Given the description of an element on the screen output the (x, y) to click on. 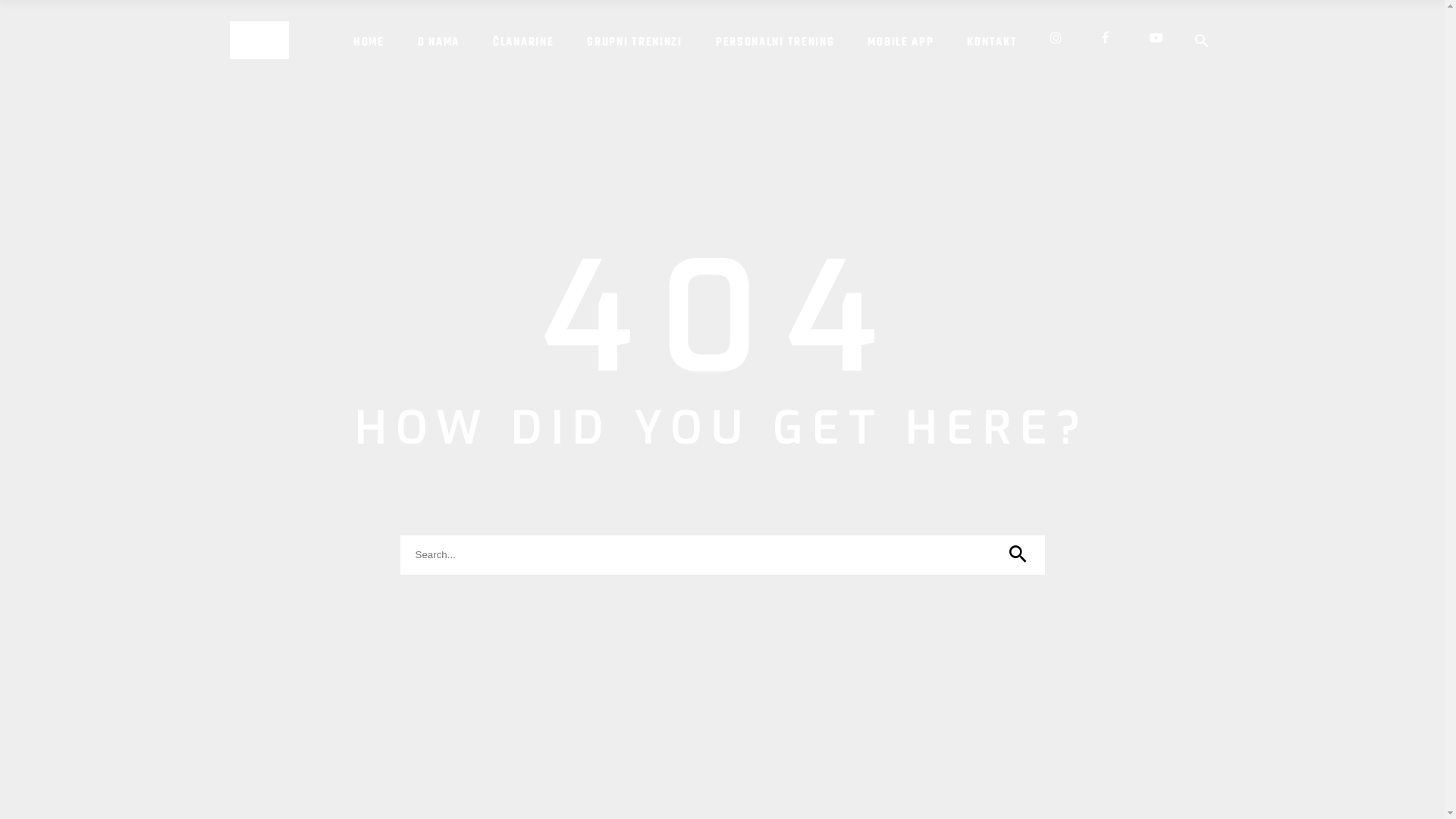
PERSONALNI TRENING Element type: text (775, 40)
Search for: Element type: hover (722, 554)
HOME Element type: text (368, 40)
GRUPNI TRENINZI Element type: text (634, 40)
KONTAKT Element type: text (991, 40)
MOBILE APP Element type: text (900, 40)
O NAMA Element type: text (438, 40)
